Given the description of an element on the screen output the (x, y) to click on. 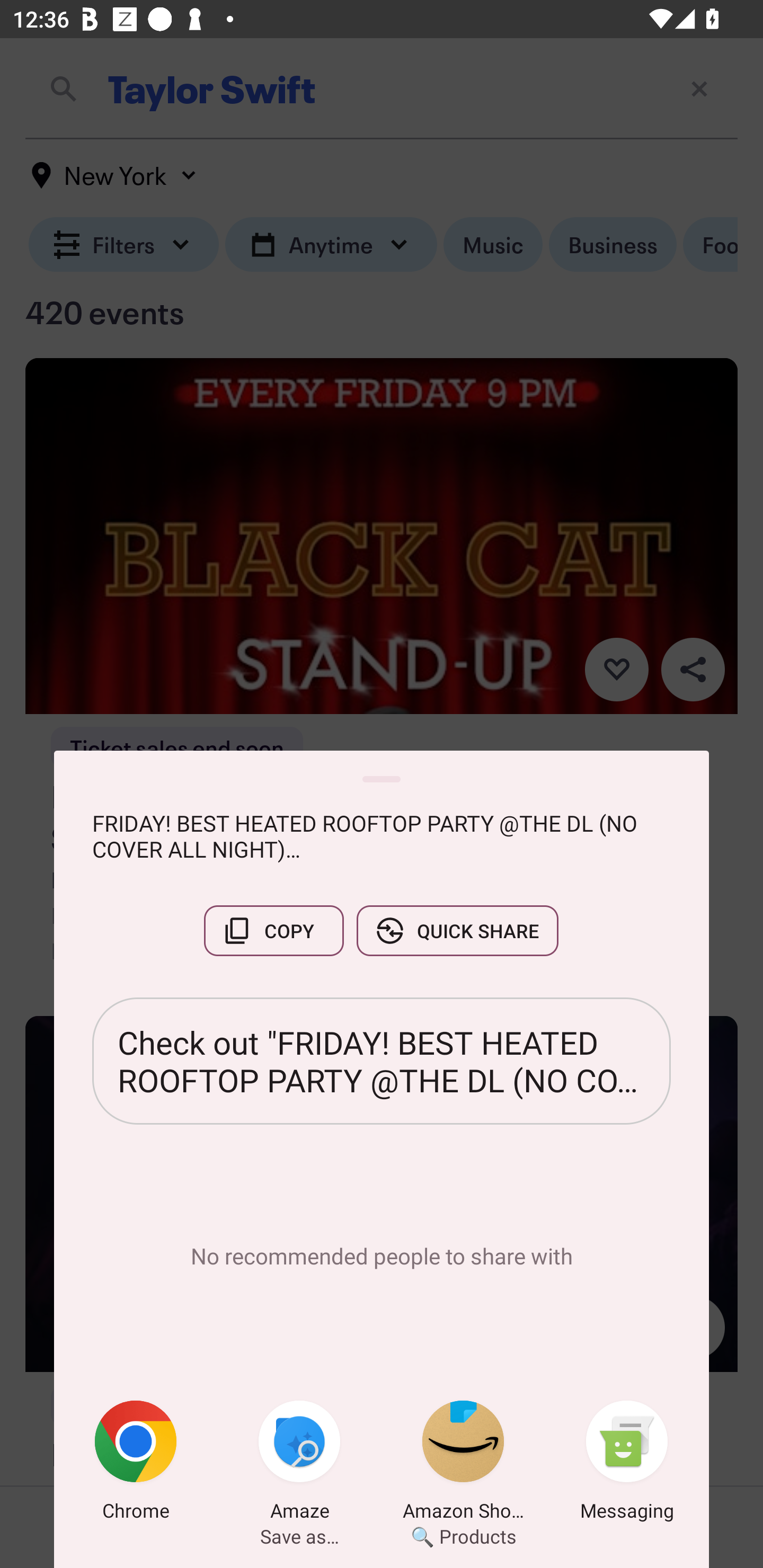
COPY (273, 930)
QUICK SHARE (457, 930)
Chrome (135, 1463)
Amaze Save as… (299, 1463)
Amazon Shopping 🔍 Products (463, 1463)
Messaging (626, 1463)
